Given the description of an element on the screen output the (x, y) to click on. 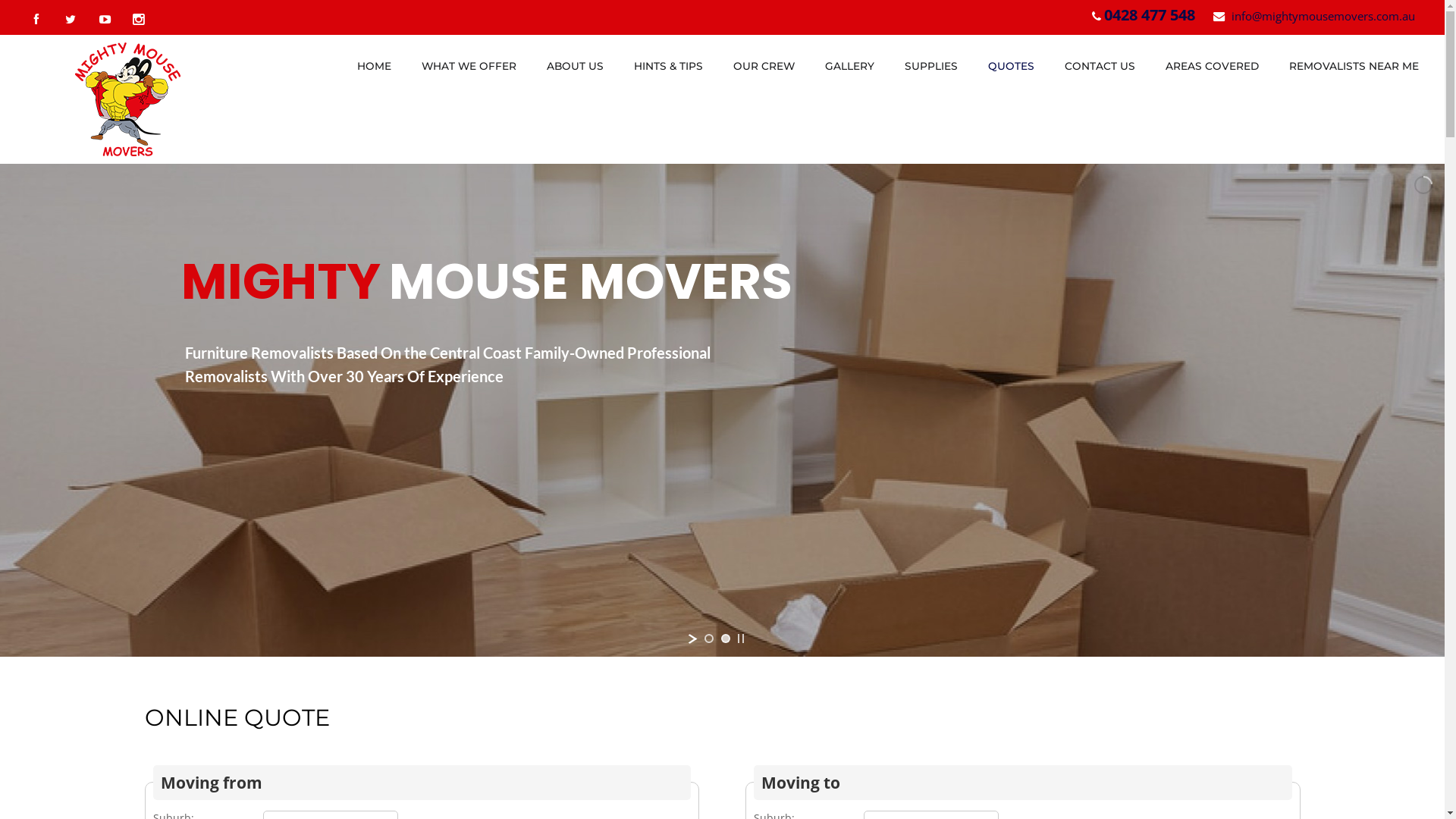
SUPPLIES Element type: text (930, 65)
HOME Element type: text (374, 65)
GALLERY Element type: text (849, 65)
REMOVALISTS NEAR ME Element type: text (1353, 65)
HINTS & TIPS Element type: text (667, 65)
WHAT WE OFFER Element type: text (468, 65)
GALLERY Element type: text (849, 65)
OUR CREW Element type: text (763, 65)
HINTS & TIPS Element type: text (667, 65)
OUR CREW Element type: text (763, 65)
CONTACT US Element type: text (1099, 65)
AREAS COVERED Element type: text (1211, 65)
CONTACT US Element type: text (1099, 65)
ABOUT US Element type: text (574, 65)
QUOTES Element type: text (1011, 65)
HOME Element type: text (374, 65)
0428 477 548 Element type: text (1149, 14)
AREAS COVERED Element type: text (1211, 65)
info@mightymousemovers.com.au Element type: text (1323, 15)
ABOUT US Element type: text (574, 65)
SUPPLIES Element type: text (930, 65)
QUOTES Element type: text (1011, 65)
REMOVALISTS NEAR ME Element type: text (1353, 65)
WHAT WE OFFER Element type: text (468, 65)
